Given the description of an element on the screen output the (x, y) to click on. 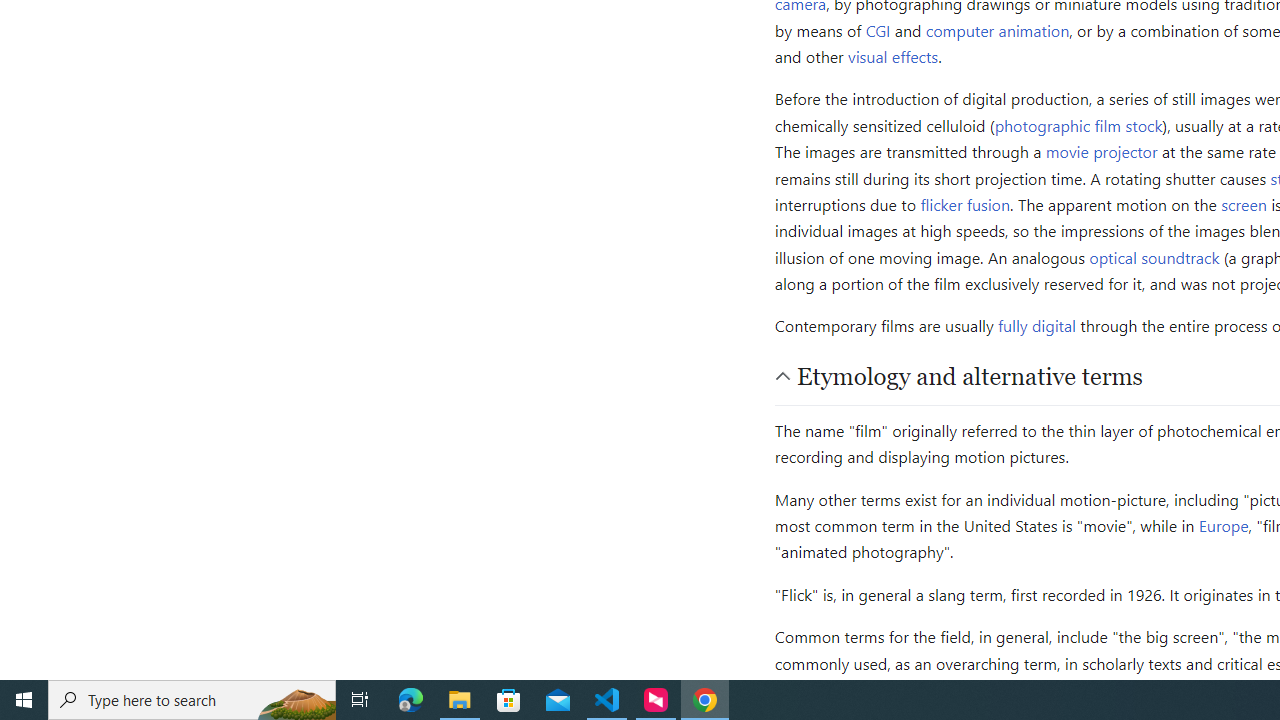
visual effects (893, 55)
fully digital (1037, 325)
stock (1144, 124)
CGI (877, 29)
photographic film (1058, 124)
Europe (1223, 525)
screen (1244, 203)
flicker fusion (965, 203)
movie projector (1101, 151)
optical soundtrack (1154, 256)
computer animation (997, 29)
